Given the description of an element on the screen output the (x, y) to click on. 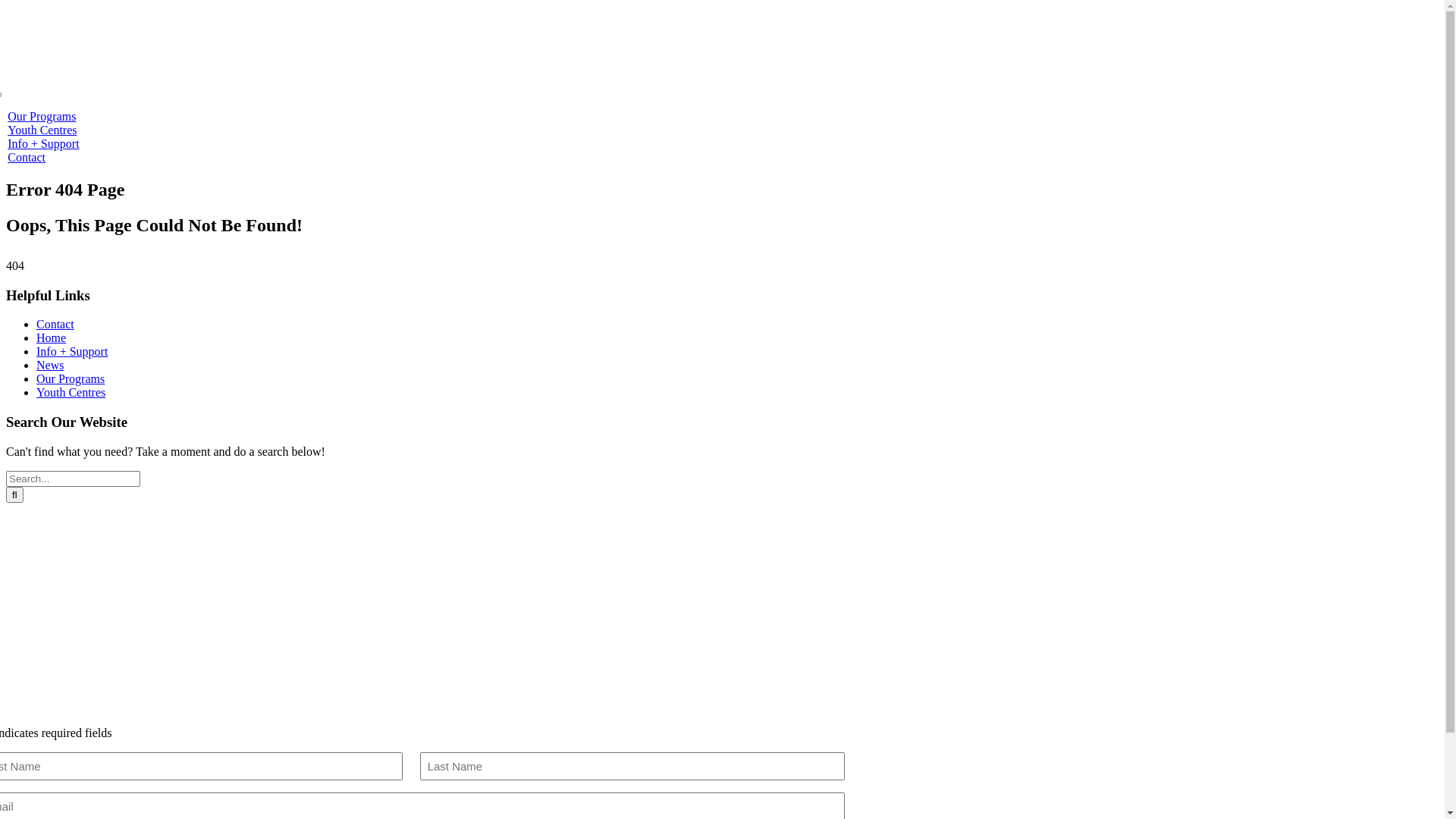
mpys@mornpen.vic.gov.au Element type: text (79, 595)
Youth Centres Element type: text (41, 129)
Youth Centres Element type: text (70, 391)
Contact Element type: text (55, 323)
Info + Support Element type: text (42, 143)
Home Element type: text (50, 337)
Contact Element type: text (26, 156)
News Element type: text (49, 364)
Our Programs Element type: text (70, 378)
Our Programs Element type: text (41, 115)
Info + Support Element type: text (71, 351)
Skip to content Element type: text (5, 5)
